Given the description of an element on the screen output the (x, y) to click on. 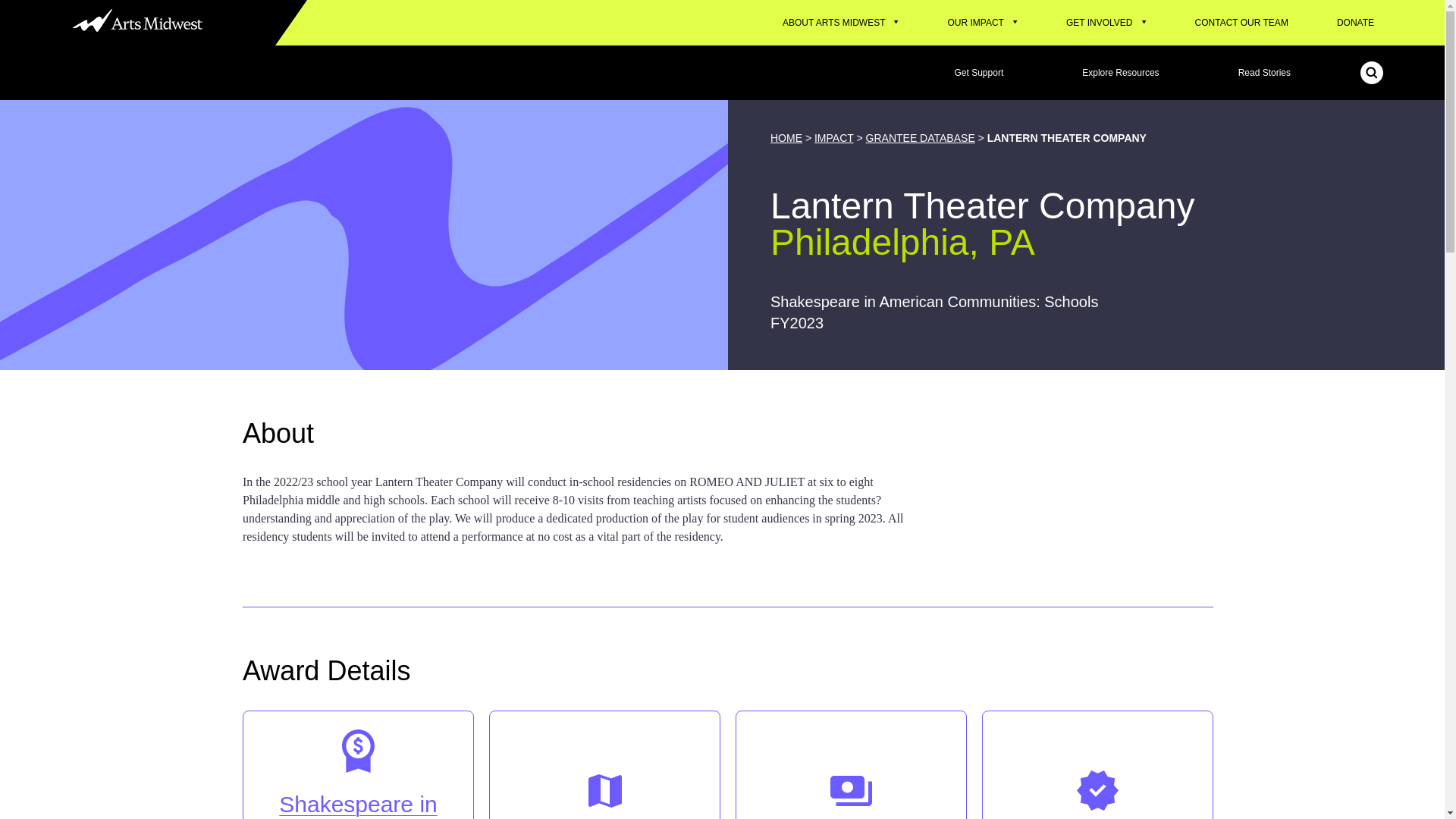
Get Support (978, 72)
DONATE (1355, 22)
CONTACT OUR TEAM (1241, 22)
